Given the description of an element on the screen output the (x, y) to click on. 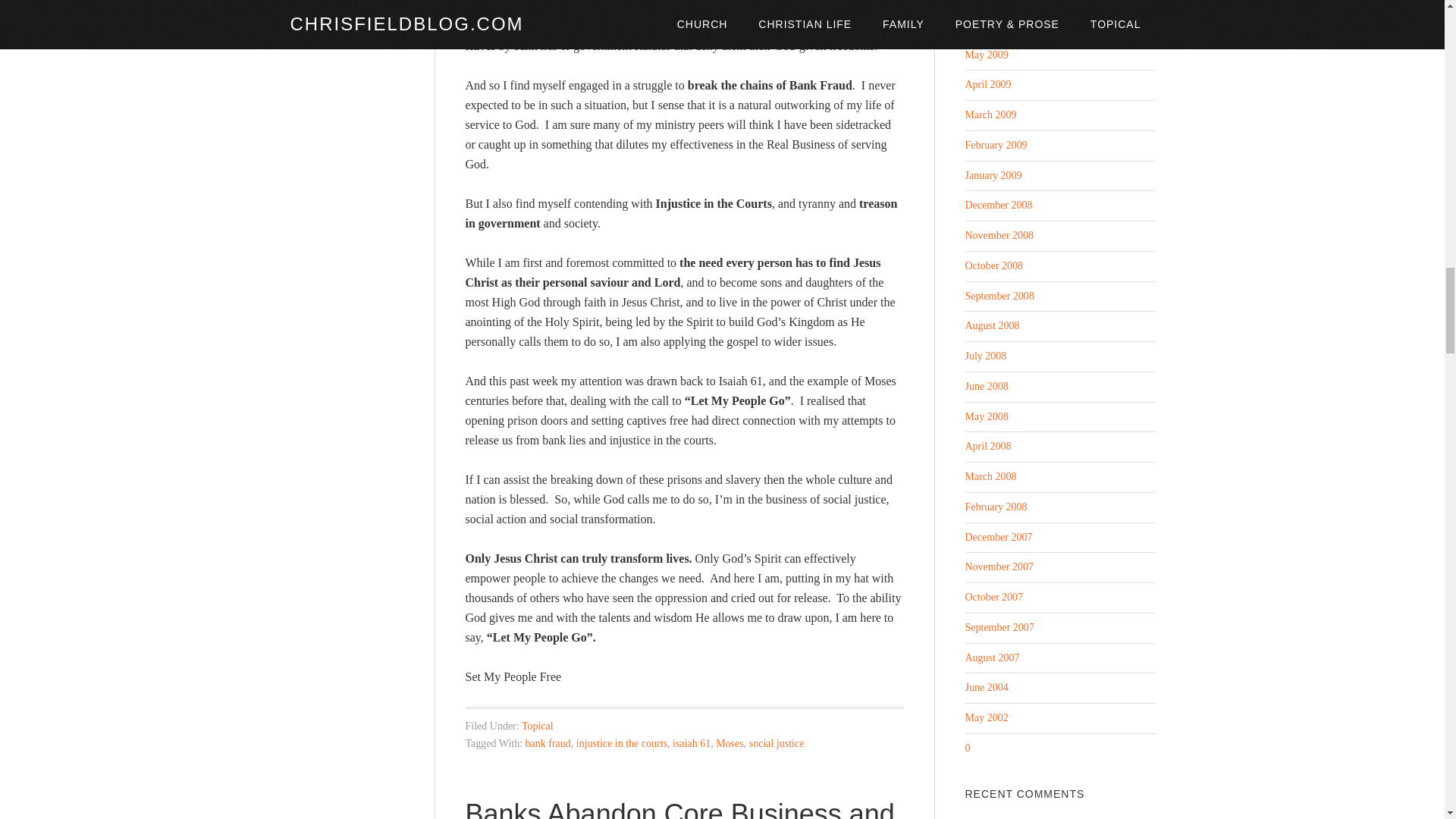
Moses (730, 742)
Banks Abandon Core Business and Customers (680, 808)
bank fraud (547, 742)
isaiah 61 (691, 742)
Topical (537, 726)
injustice in the courts (621, 742)
social justice (777, 742)
